Given the description of an element on the screen output the (x, y) to click on. 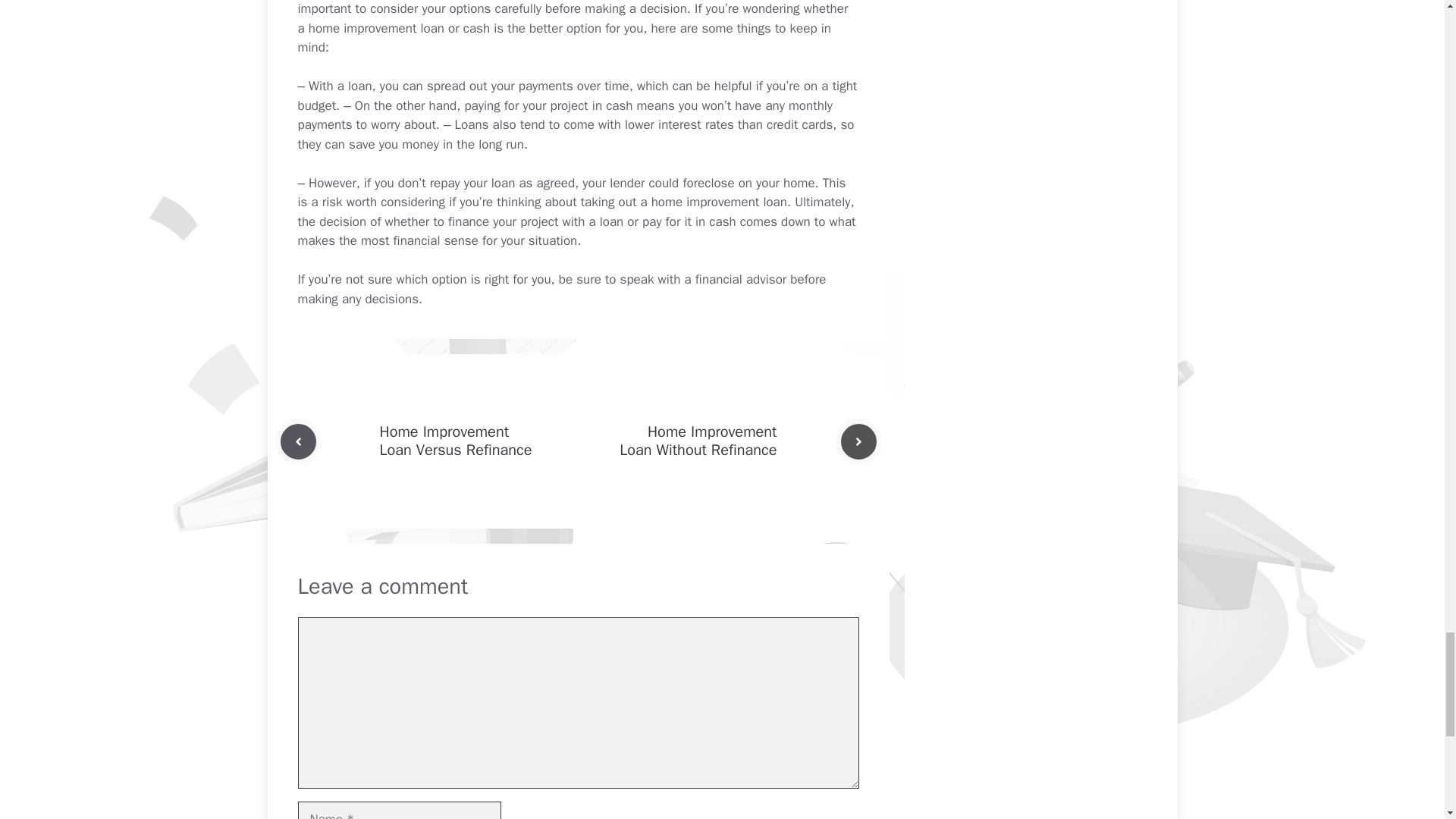
Home Improvement Loan Versus Refinance (454, 440)
Home Improvement Loan Without Refinance (698, 440)
